Given the description of an element on the screen output the (x, y) to click on. 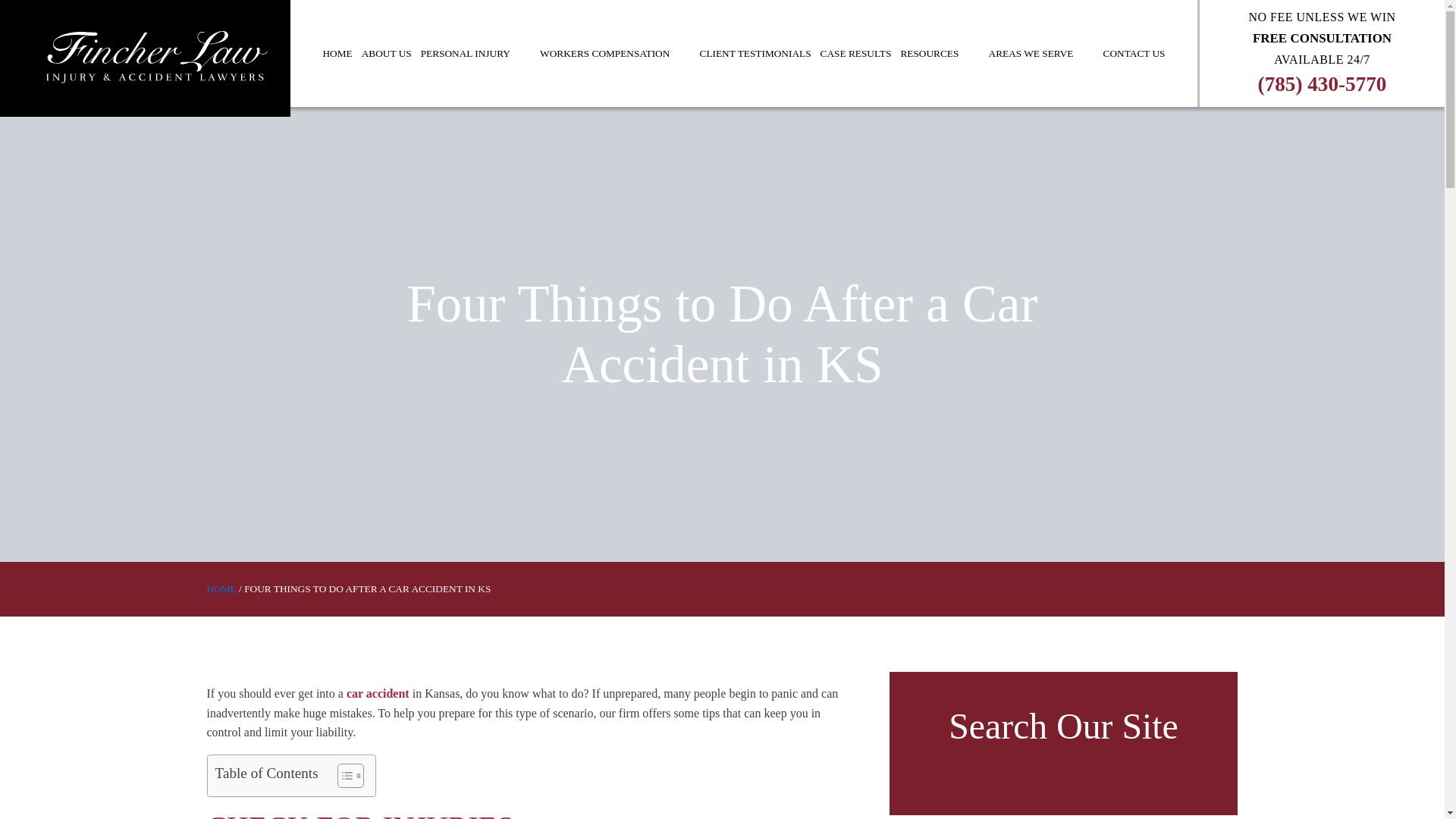
CONTACT US (1134, 52)
WORKERS COMPENSATION (614, 52)
ABOUT US (386, 52)
AREAS WE SERVE (1041, 52)
RESOURCES (939, 52)
CASE RESULTS (855, 52)
CLIENT TESTIMONIALS (755, 52)
HOME (337, 52)
PERSONAL INJURY (475, 52)
